Given the description of an element on the screen output the (x, y) to click on. 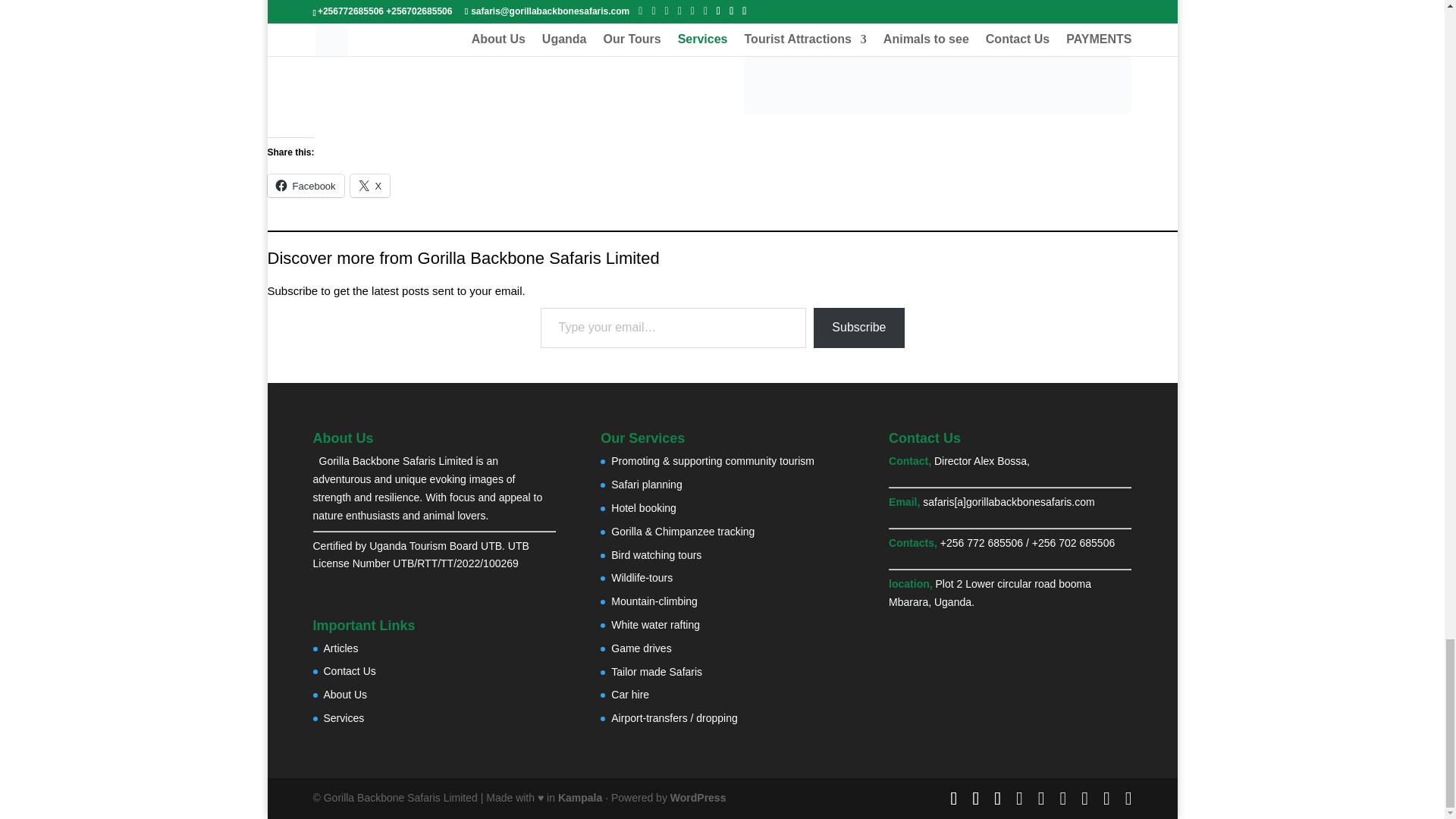
Services (343, 717)
Subscribe (858, 327)
Contact Us (349, 671)
Hotel booking (644, 508)
Facebook (304, 185)
Articles (340, 648)
Safari planning (646, 484)
About Us (344, 694)
X (370, 185)
